Given the description of an element on the screen output the (x, y) to click on. 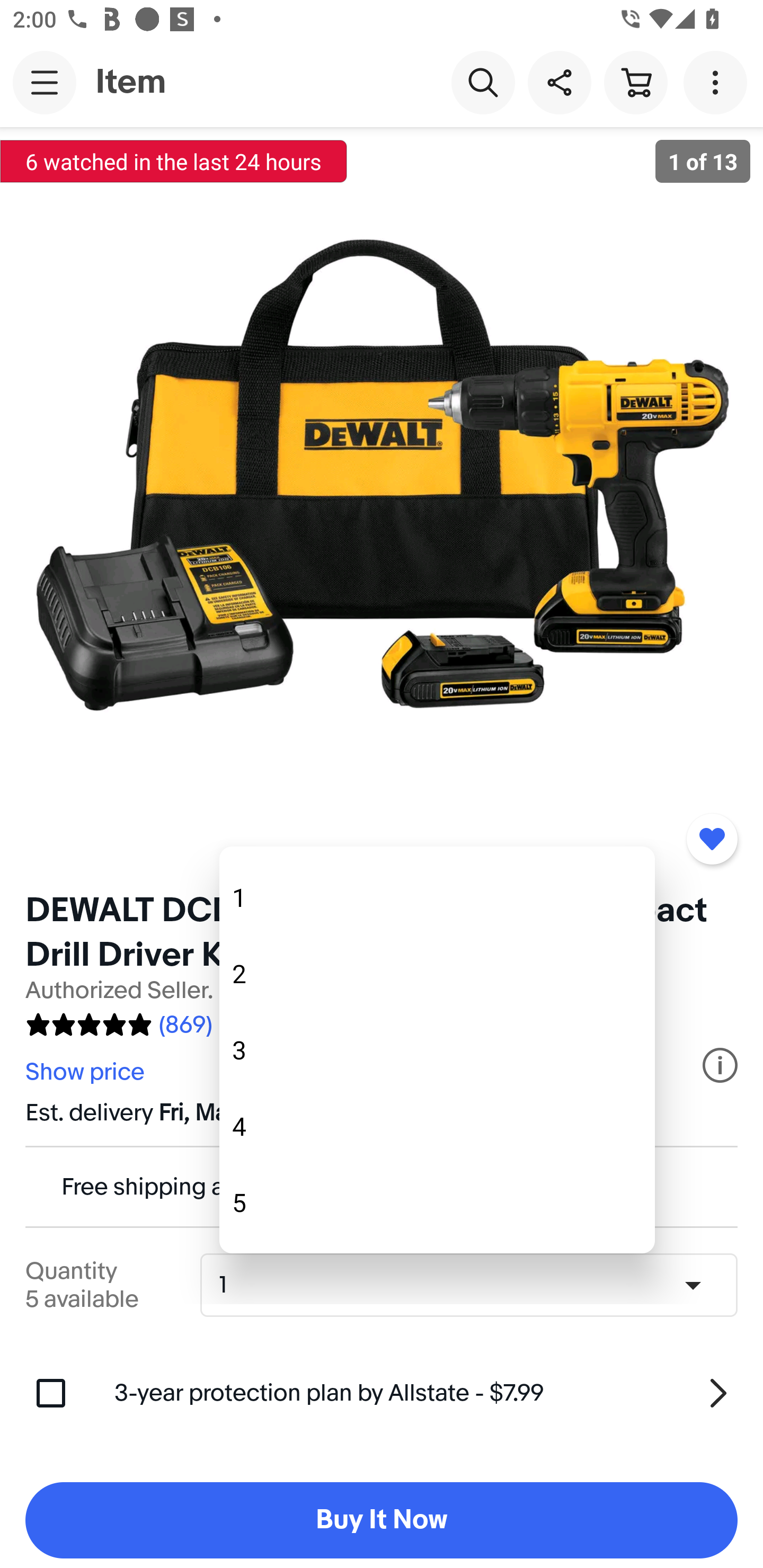
1 (436, 897)
2 (436, 973)
3 (436, 1049)
4 (436, 1126)
5 (436, 1202)
